Given the description of an element on the screen output the (x, y) to click on. 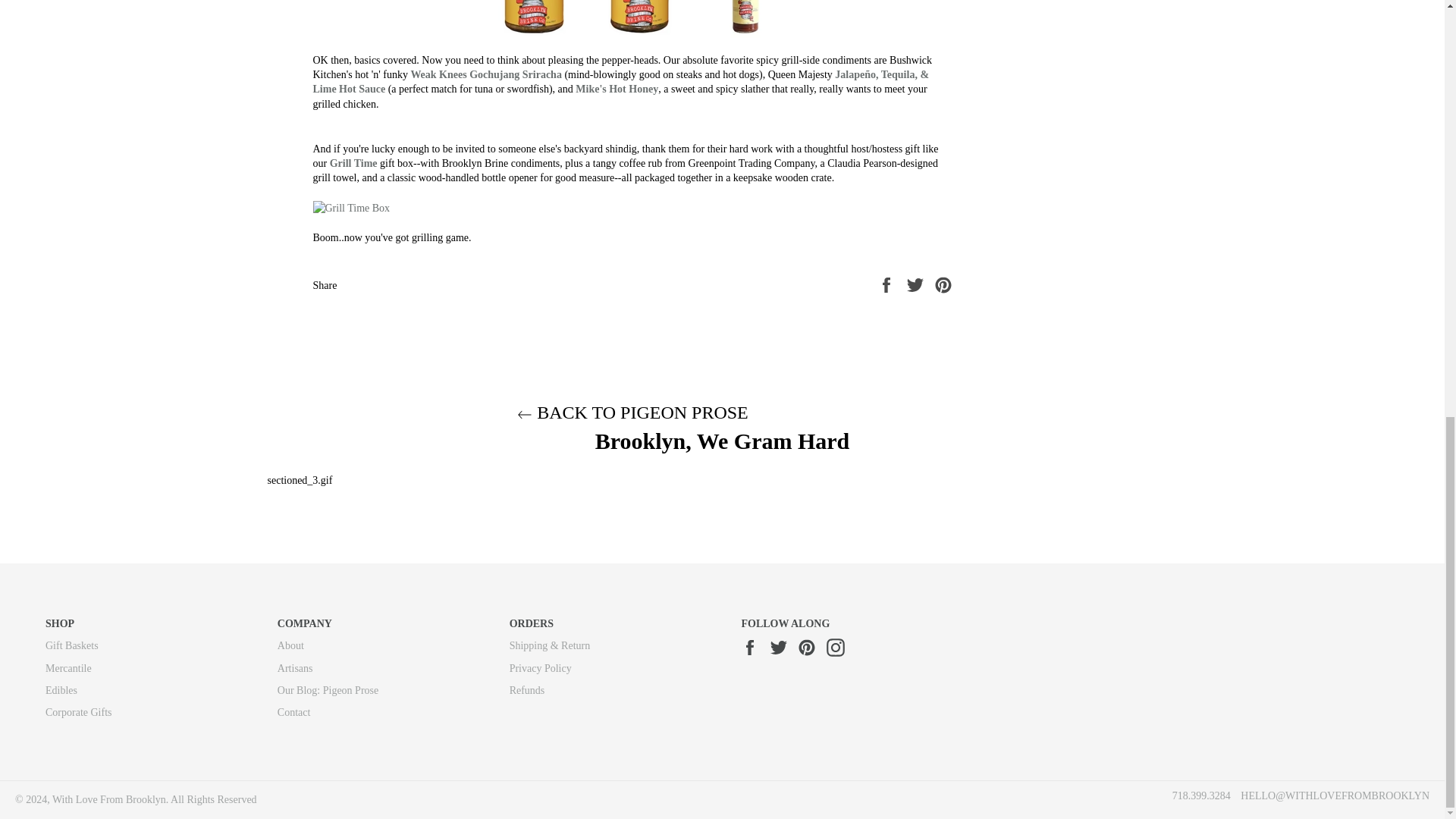
Pin on Pinterest (943, 283)
Weak Knees Gochujang Sriracha (486, 74)
With Love From Brooklyn on Facebook (754, 647)
Grill Time Box (632, 207)
Grill Time Gift Box (353, 163)
Mike's Hot Honey (616, 89)
With Love From Brooklyn on Instagram (839, 647)
Gift Baskets (72, 645)
BACK TO PIGEON PROSE (632, 412)
Mercantile (68, 668)
